Given the description of an element on the screen output the (x, y) to click on. 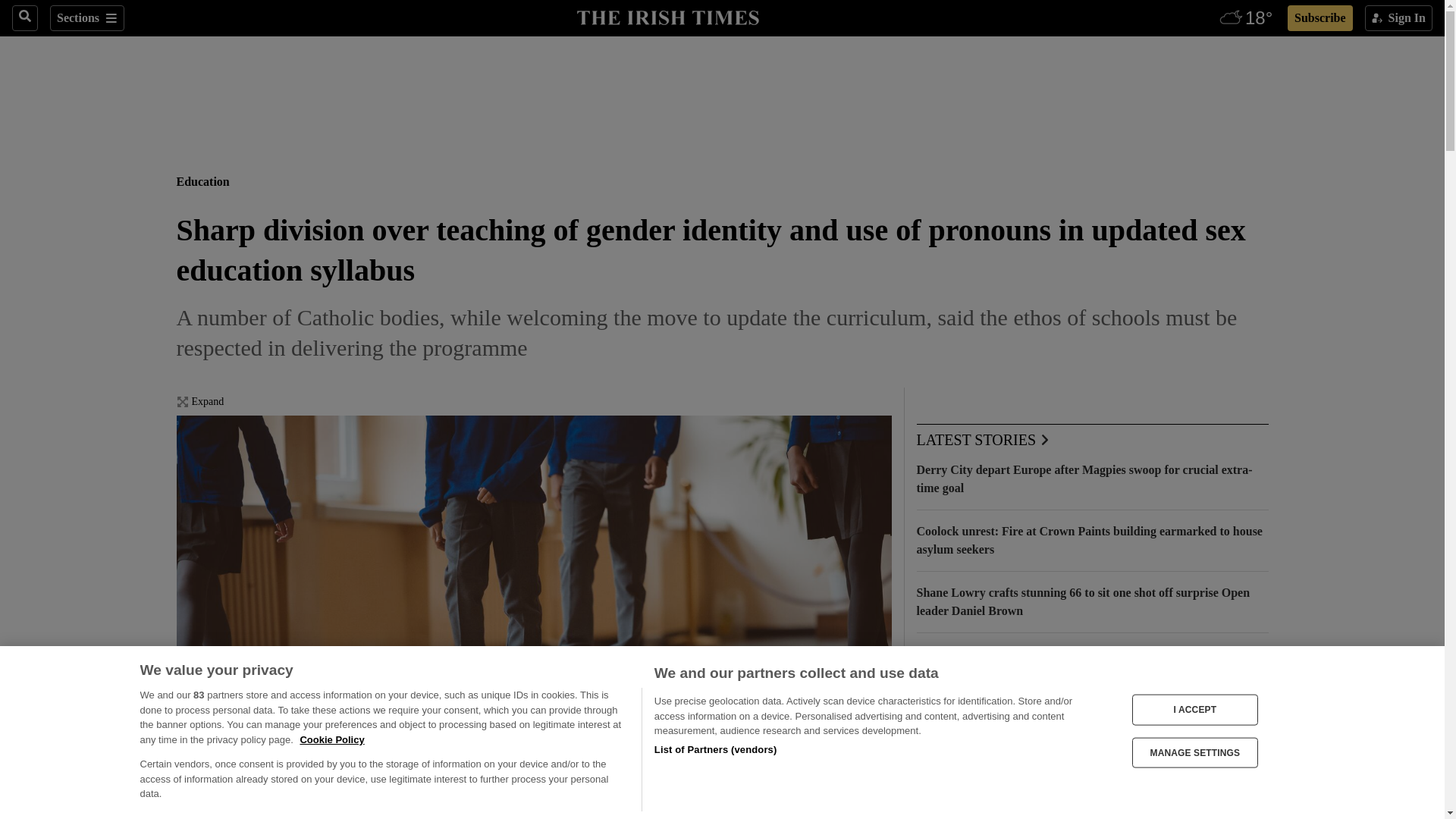
Sign In (1398, 17)
Sections (86, 17)
The Irish Times (667, 16)
Subscribe (1319, 17)
